Given the description of an element on the screen output the (x, y) to click on. 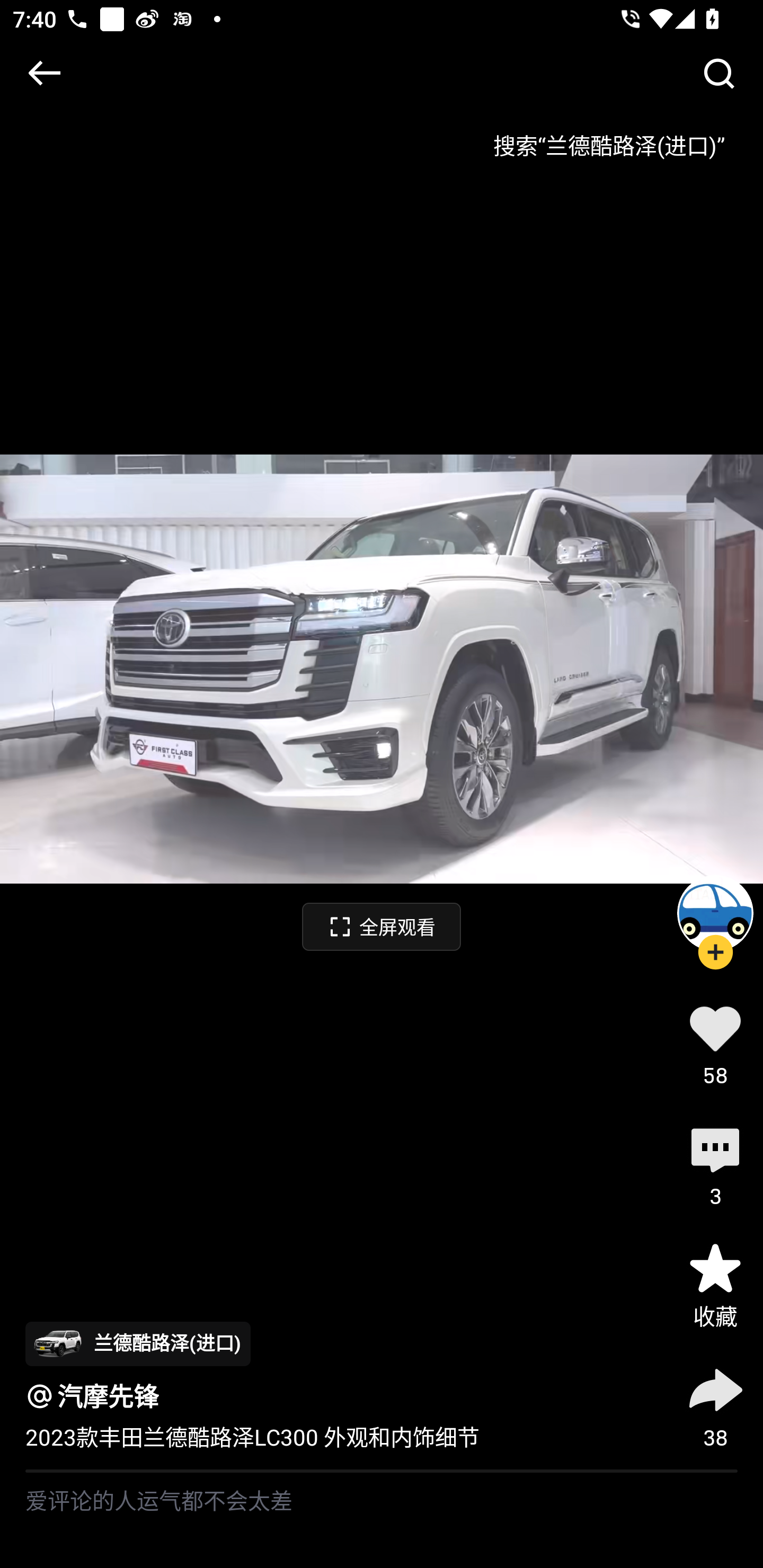
 (44, 72)
 (718, 72)
搜索“兰德酷路泽(进口)” (608, 139)
 全屏观看 (381, 926)
3 (715, 1164)
收藏 (715, 1284)
兰德酷路泽(进口) (137, 1343)
38 (715, 1405)
汽摩先锋 (107, 1396)
2023款丰田兰德酷路泽LC300 外观和内饰细节 (252, 1437)
爱评论的人运气都不会太差 (381, 1520)
